Given the description of an element on the screen output the (x, y) to click on. 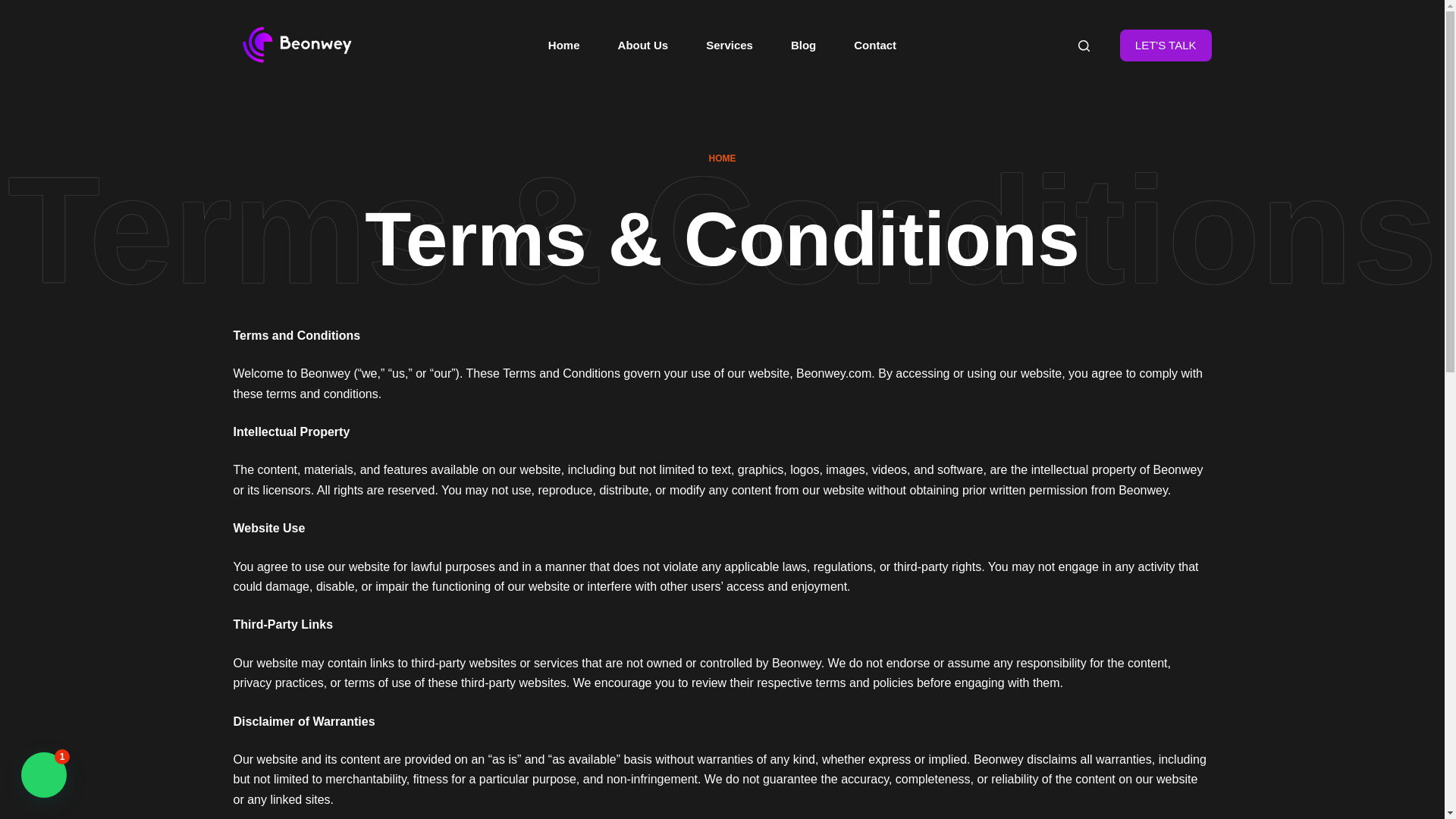
Services (729, 45)
About Us (642, 45)
HOME (721, 159)
LET'S TALK (1165, 45)
Skip to content (15, 7)
Home (563, 45)
Contact (874, 45)
Blog (802, 45)
